Given the description of an element on the screen output the (x, y) to click on. 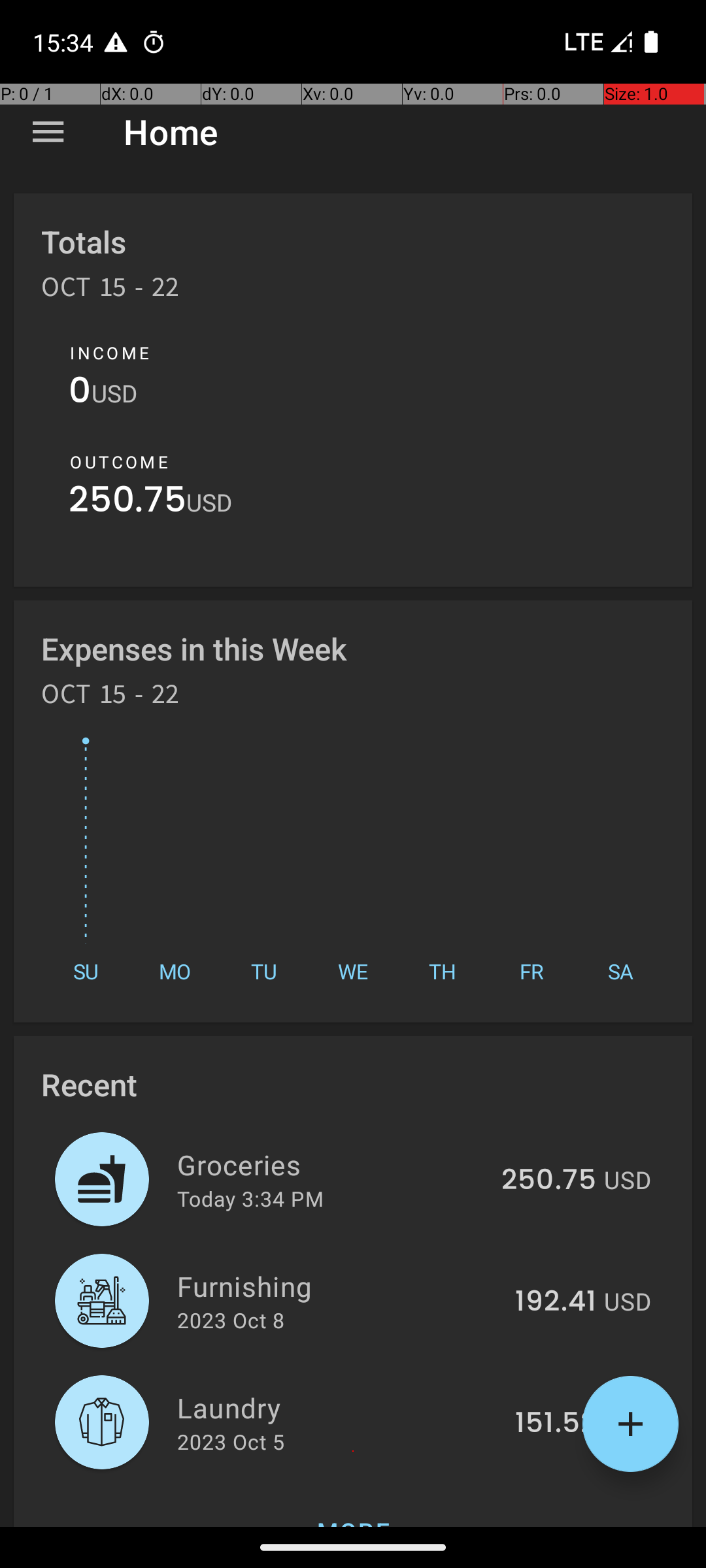
250.75 Element type: android.widget.TextView (127, 502)
MORE Element type: android.widget.Button (352, 1504)
Groceries Element type: android.widget.TextView (331, 1164)
Today 3:34 PM Element type: android.widget.TextView (250, 1198)
Furnishing Element type: android.widget.TextView (338, 1285)
2023 Oct 8 Element type: android.widget.TextView (230, 1320)
192.41 Element type: android.widget.TextView (555, 1301)
Laundry Element type: android.widget.TextView (338, 1407)
2023 Oct 5 Element type: android.widget.TextView (230, 1441)
151.52 Element type: android.widget.TextView (555, 1423)
